Given the description of an element on the screen output the (x, y) to click on. 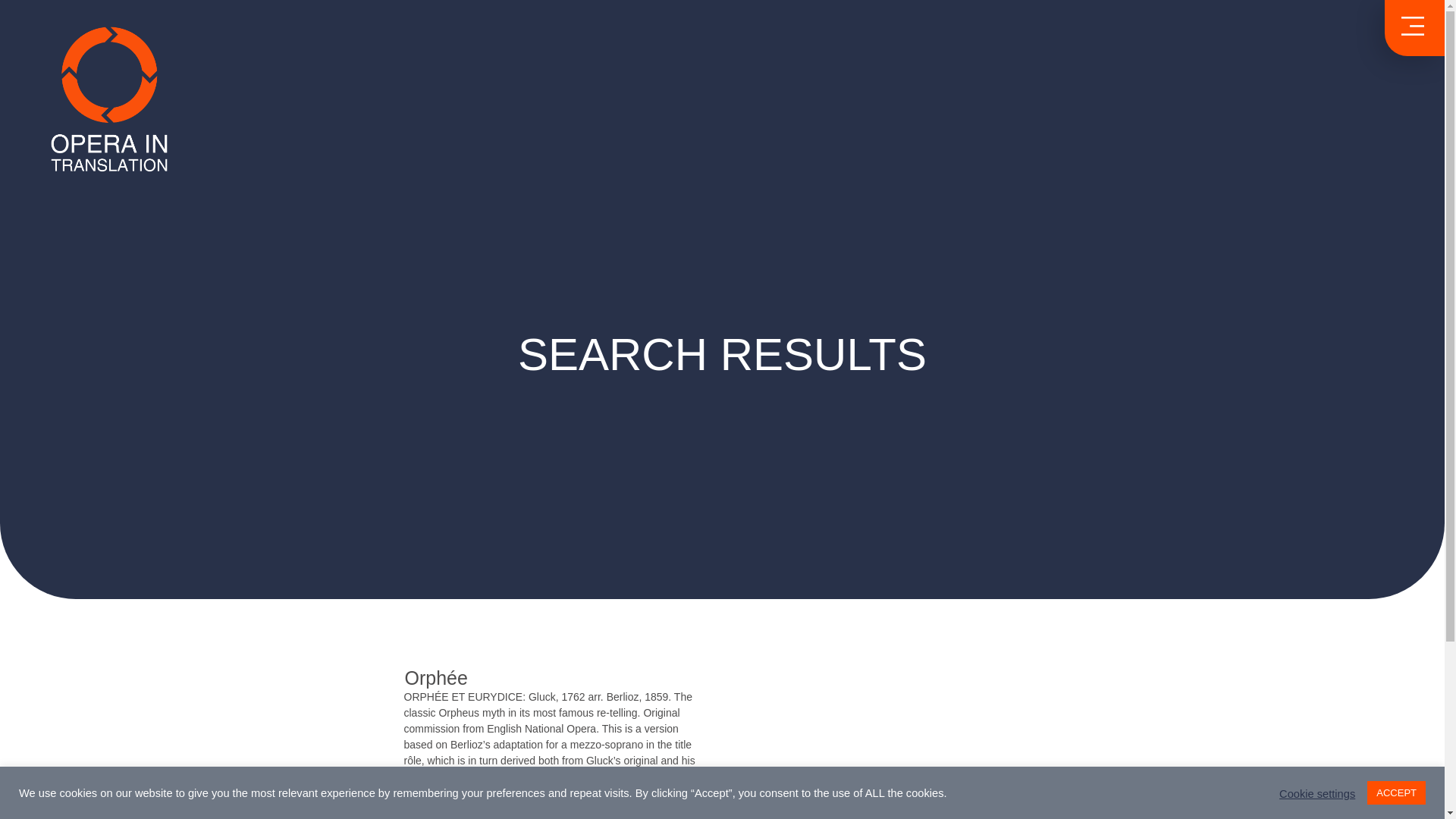
Menu-new (1411, 25)
Cookie settings (1316, 792)
ACCEPT (1396, 792)
